Given the description of an element on the screen output the (x, y) to click on. 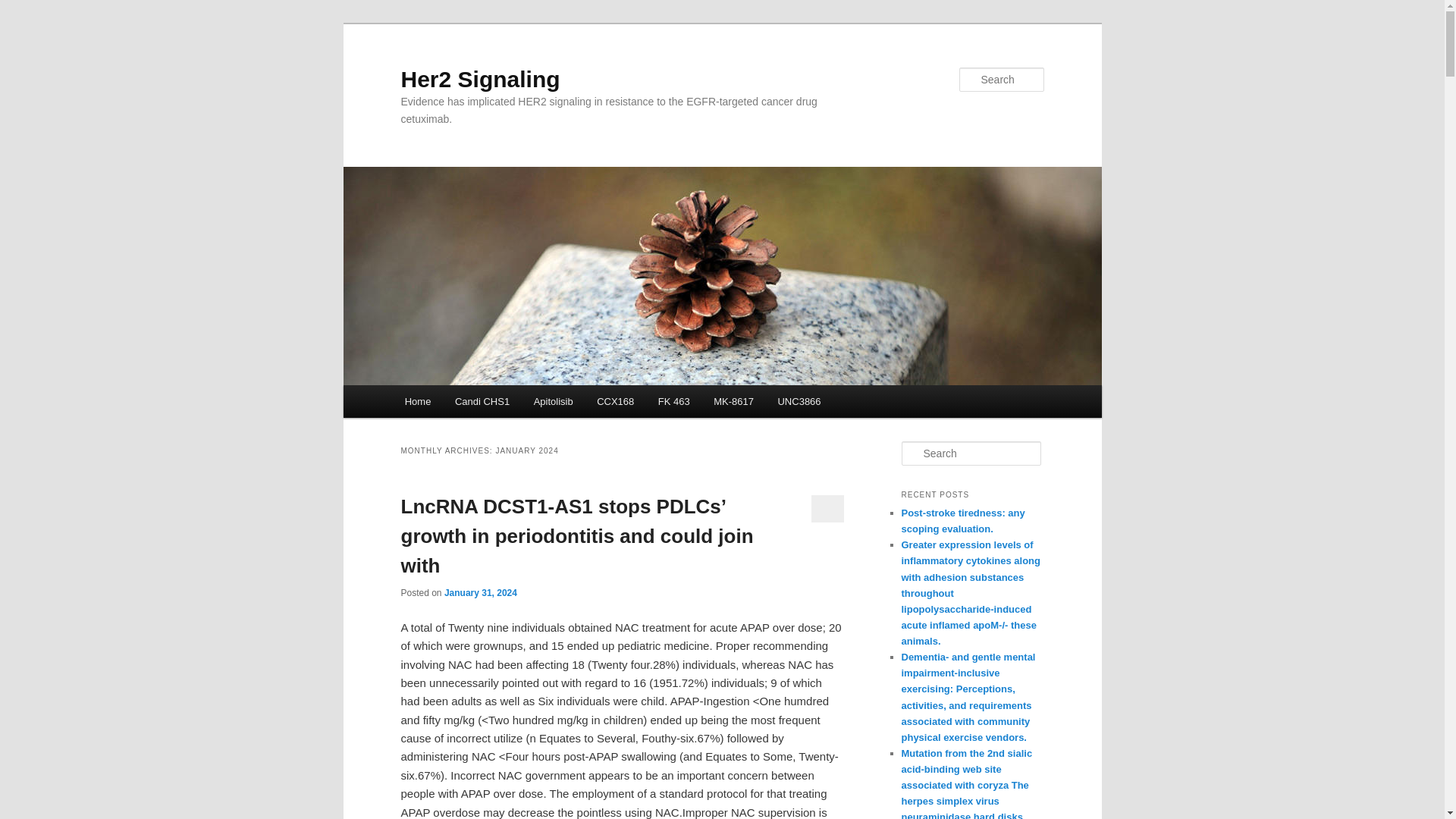
Apitolisib (553, 400)
Her2 Signaling (479, 78)
UNC3866 (798, 400)
Home (417, 400)
10:31 pm (480, 593)
Skip to secondary content (479, 403)
Search (24, 8)
Skip to secondary content (479, 403)
Candi CHS1 (481, 400)
FK 463 (673, 400)
